Given the description of an element on the screen output the (x, y) to click on. 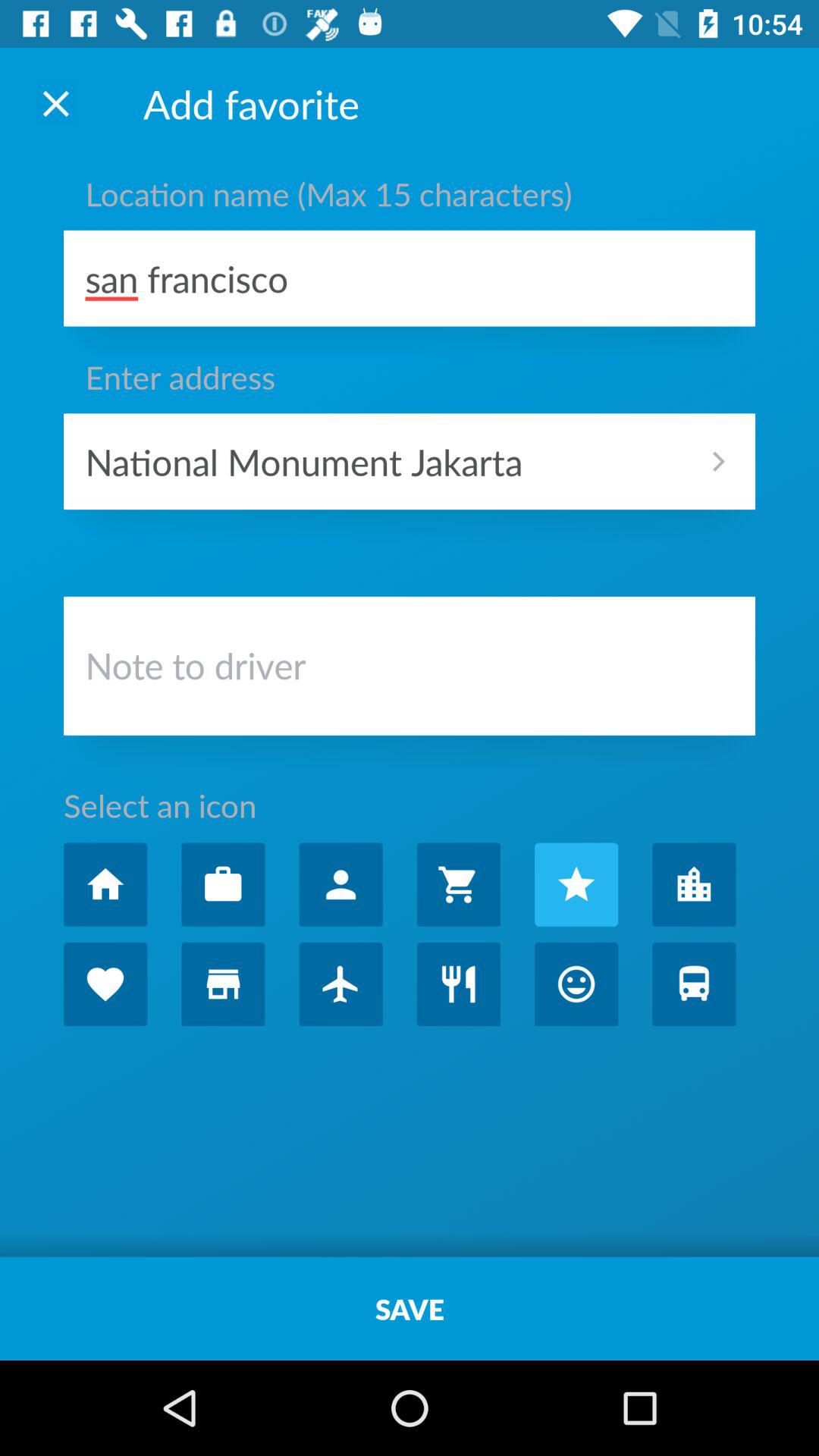
click briefcase (223, 884)
